Given the description of an element on the screen output the (x, y) to click on. 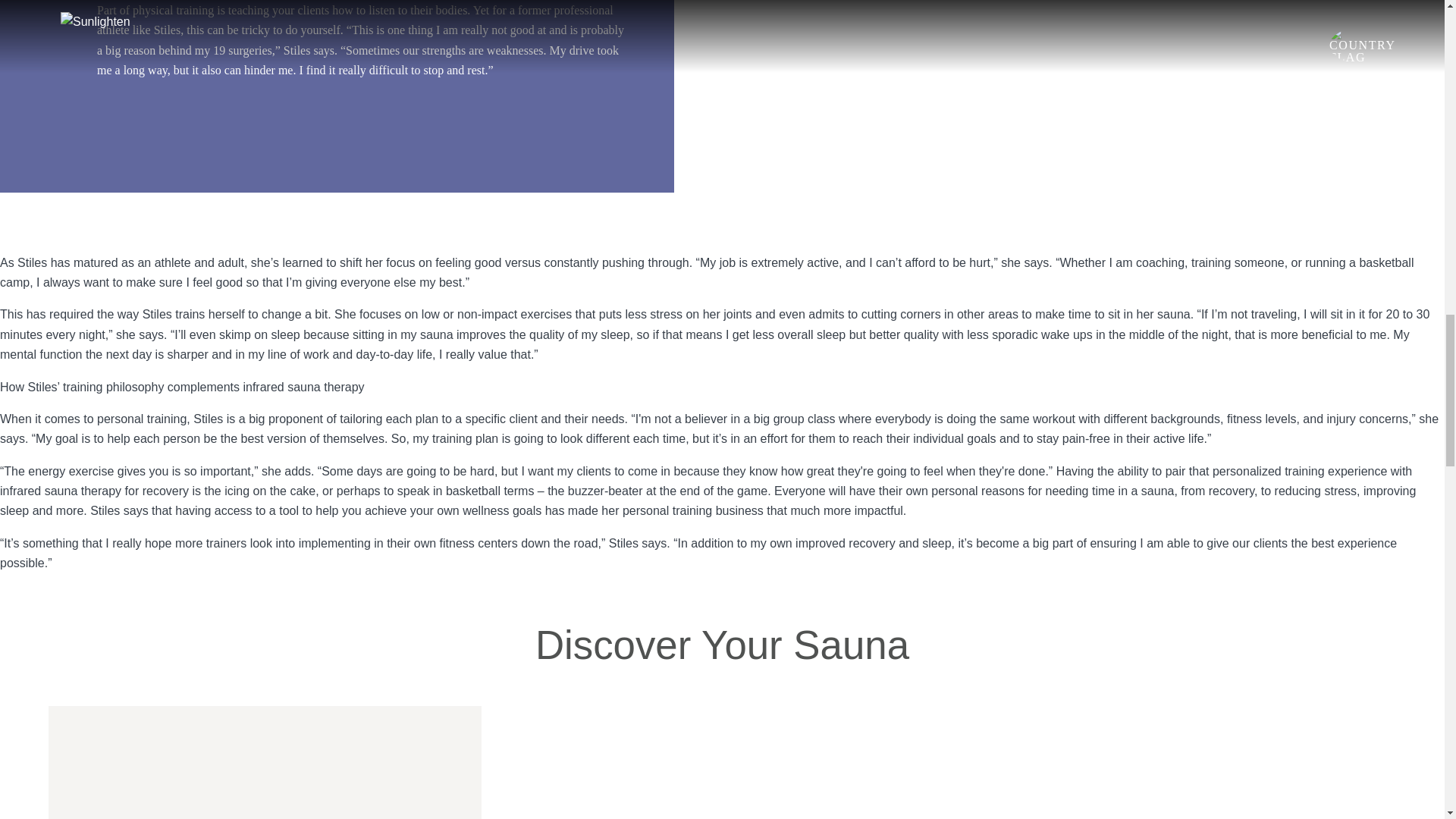
improves the quality of my sleep (543, 334)
